Given the description of an element on the screen output the (x, y) to click on. 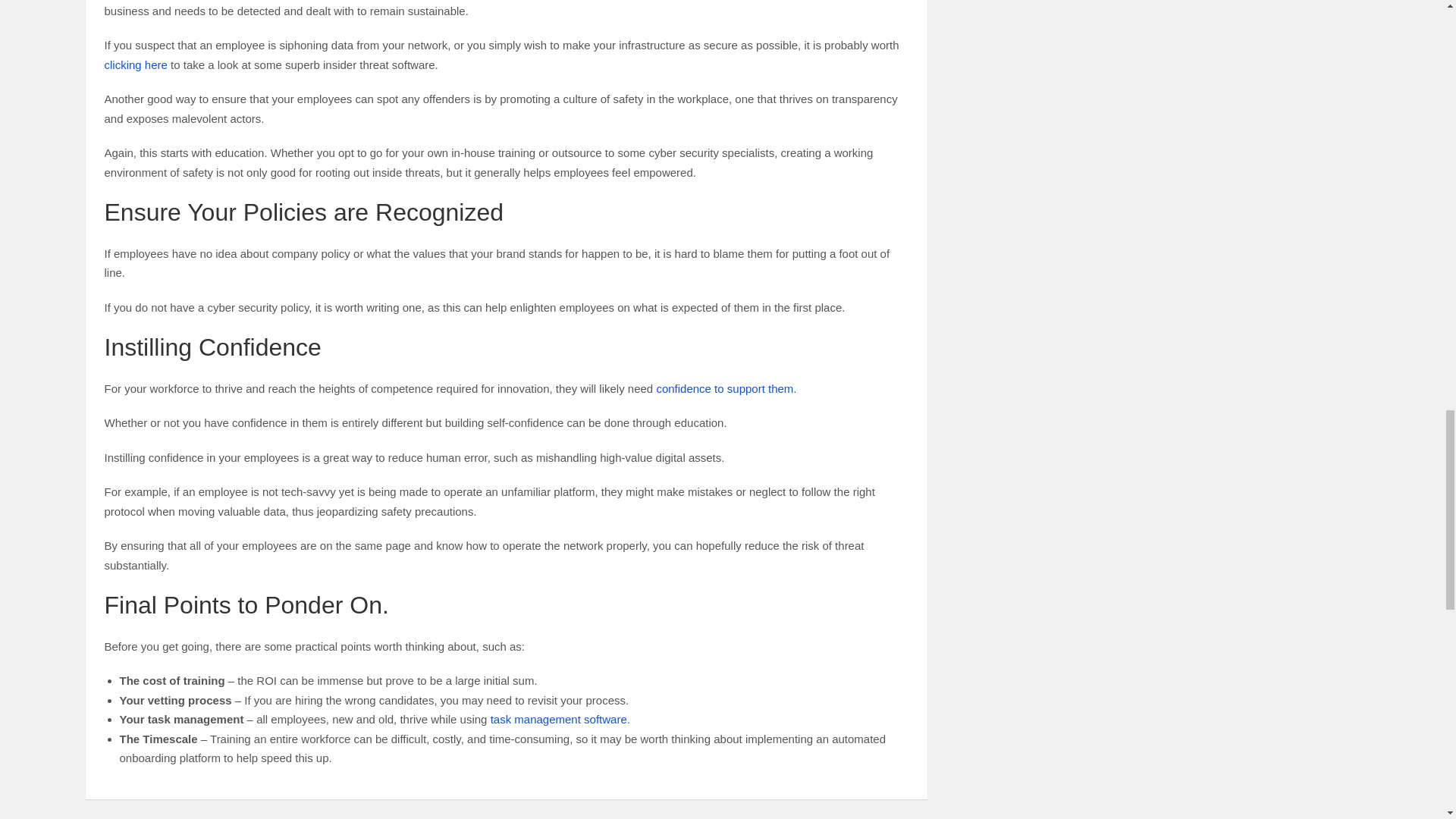
confidence to support them (724, 388)
clicking here (135, 64)
task management software (558, 718)
